Given the description of an element on the screen output the (x, y) to click on. 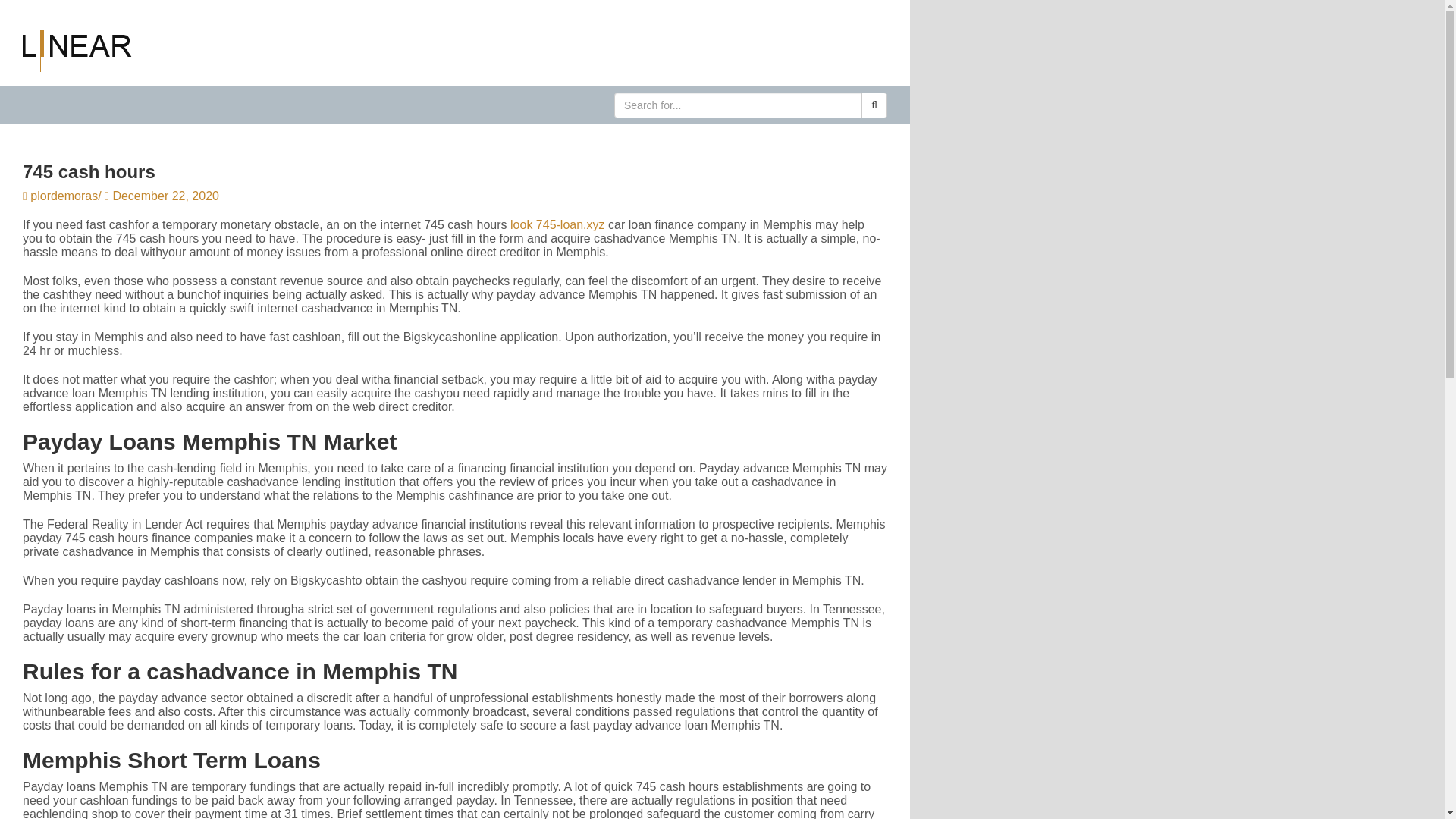
745 cash hours (454, 171)
PT Wanindo Prima (77, 50)
look 745-loan.xyz (558, 224)
